Given the description of an element on the screen output the (x, y) to click on. 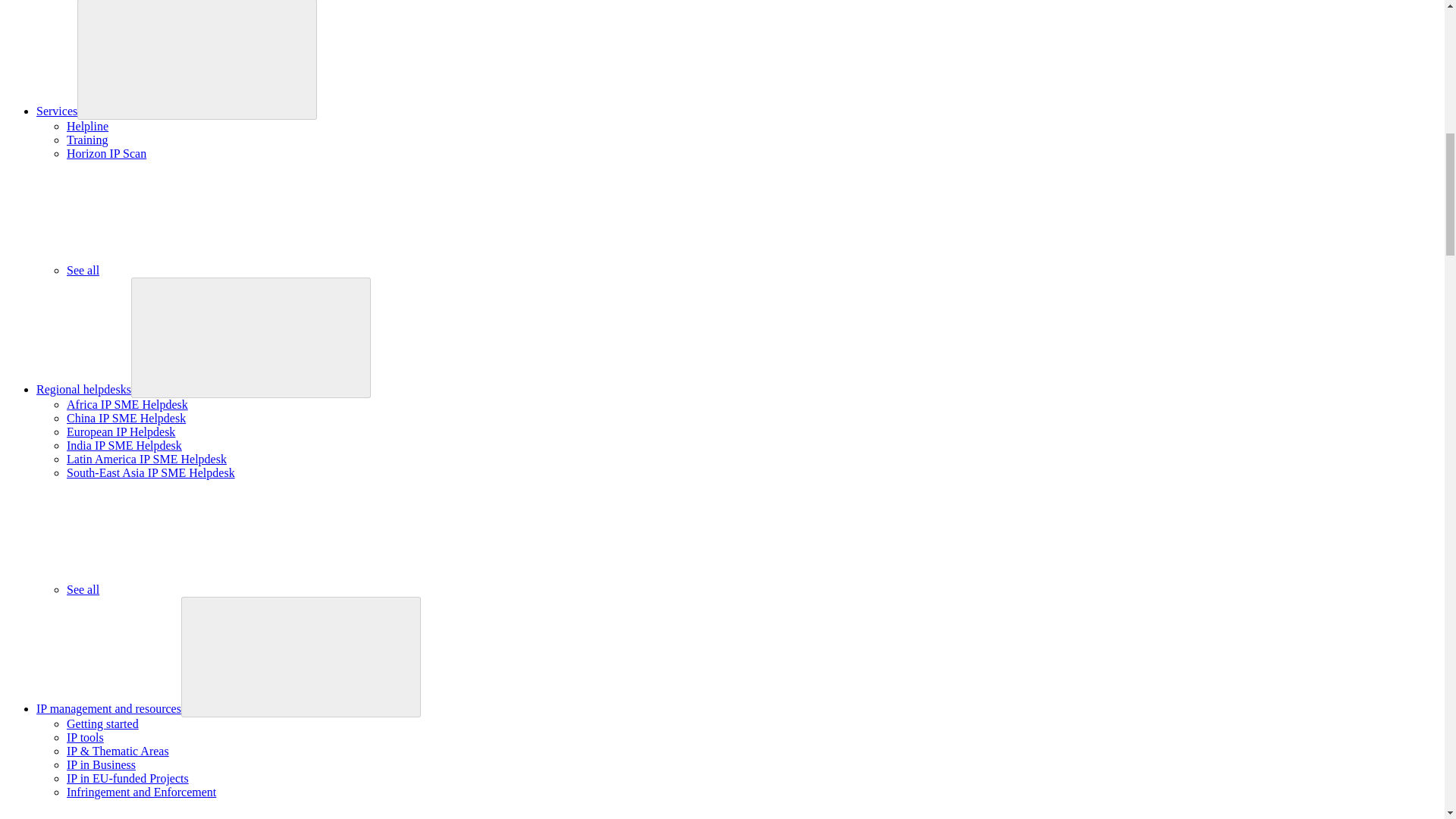
China IP SME Helpdesk (126, 418)
IP tools (84, 737)
South-East Asia IP SME Helpdesk (150, 472)
Training (86, 139)
See all (196, 589)
IP in Business (100, 764)
Helpline (86, 125)
See all (196, 269)
Infringement and Enforcement (140, 791)
Regional helpdesks (83, 389)
Africa IP SME Helpdesk (126, 404)
Getting started (102, 723)
European IP Helpdesk (120, 431)
Services (56, 110)
Latin America IP SME Helpdesk (146, 459)
